Given the description of an element on the screen output the (x, y) to click on. 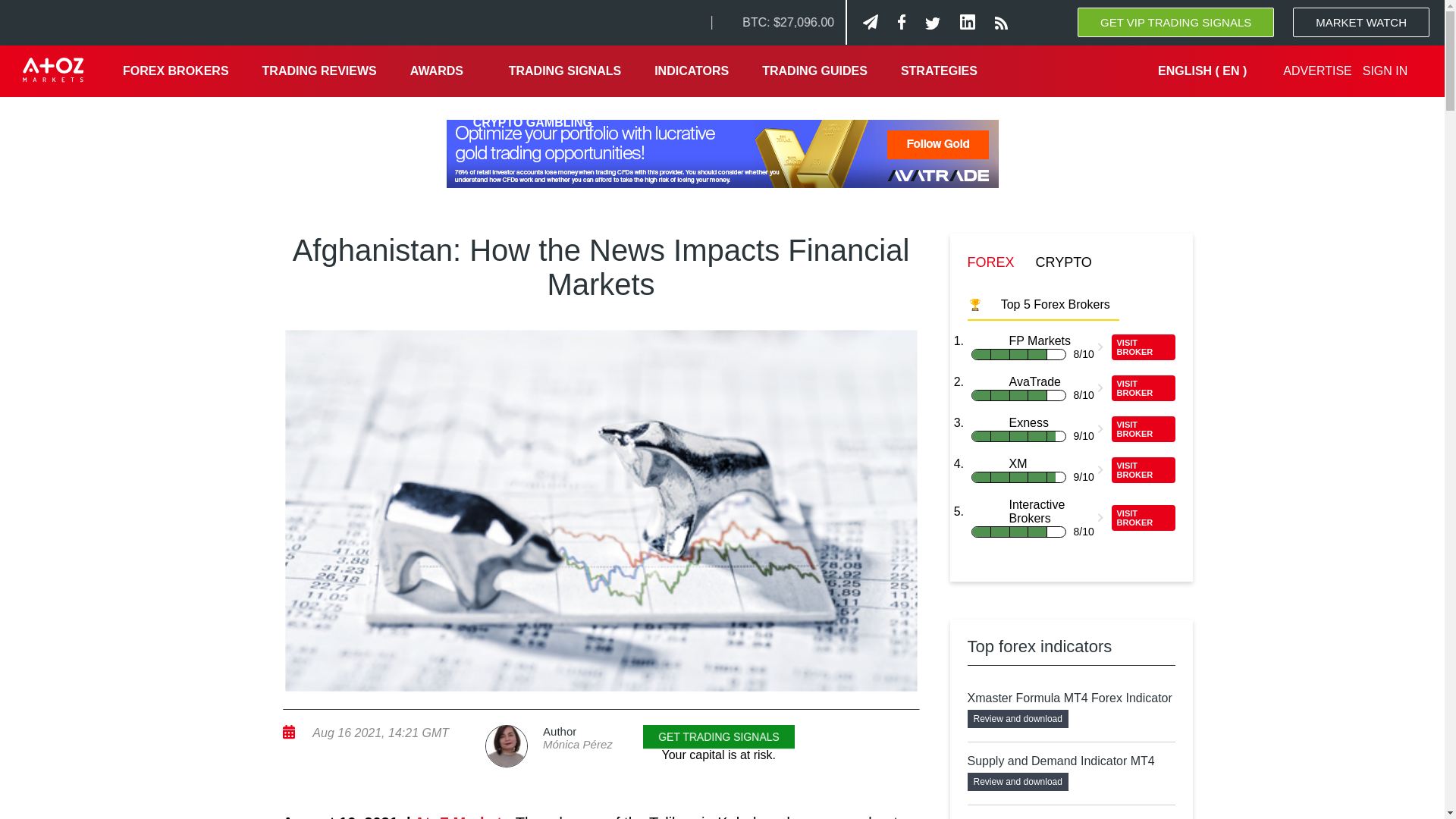
MARKET WATCH (1360, 21)
TRADING REVIEWS (319, 71)
FOREX BROKERS (176, 71)
